Given the description of an element on the screen output the (x, y) to click on. 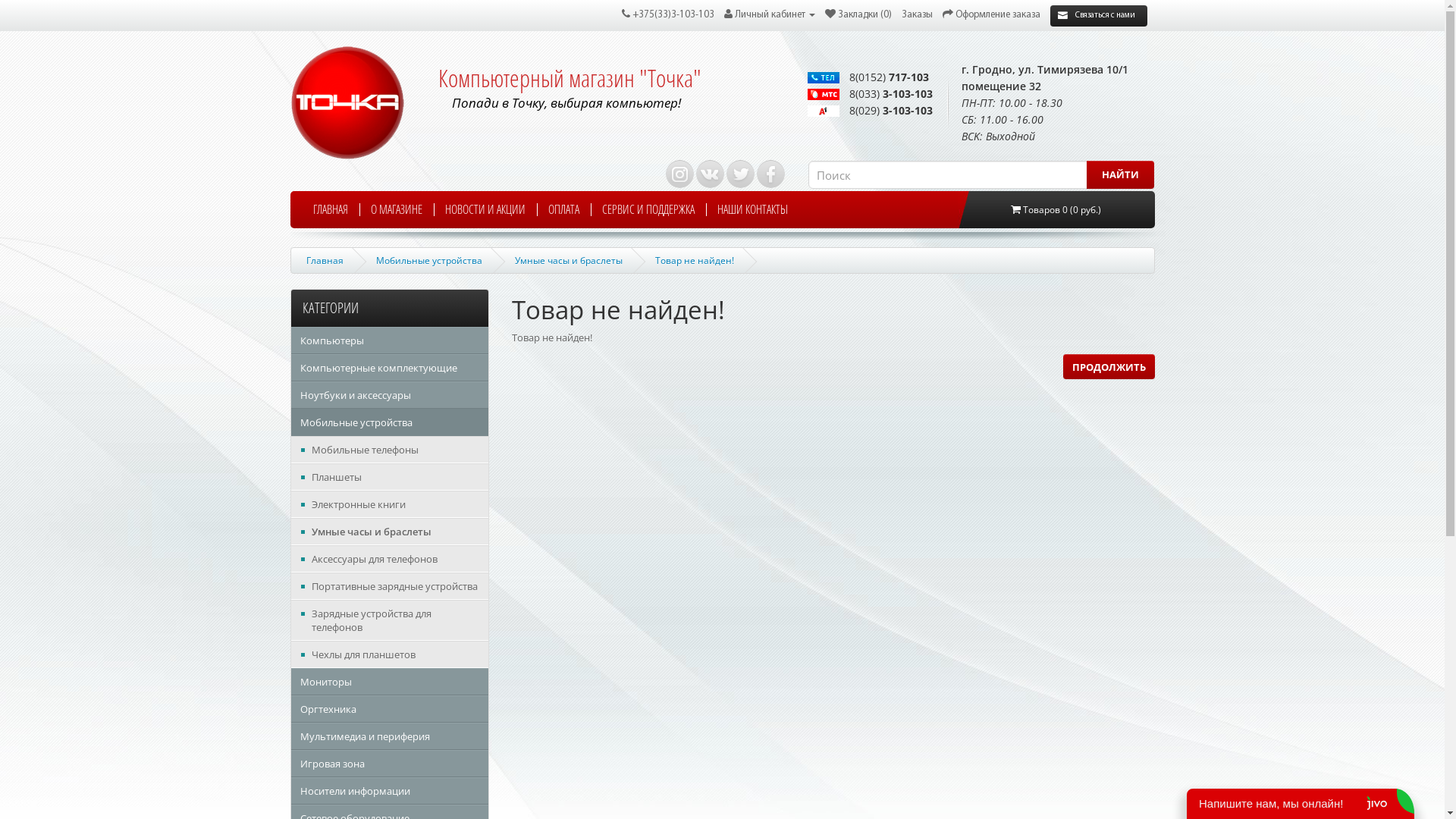
facebook Element type: text (770, 174)
Twitter Element type: text (740, 174)
instagram Element type: text (679, 174)
